Given the description of an element on the screen output the (x, y) to click on. 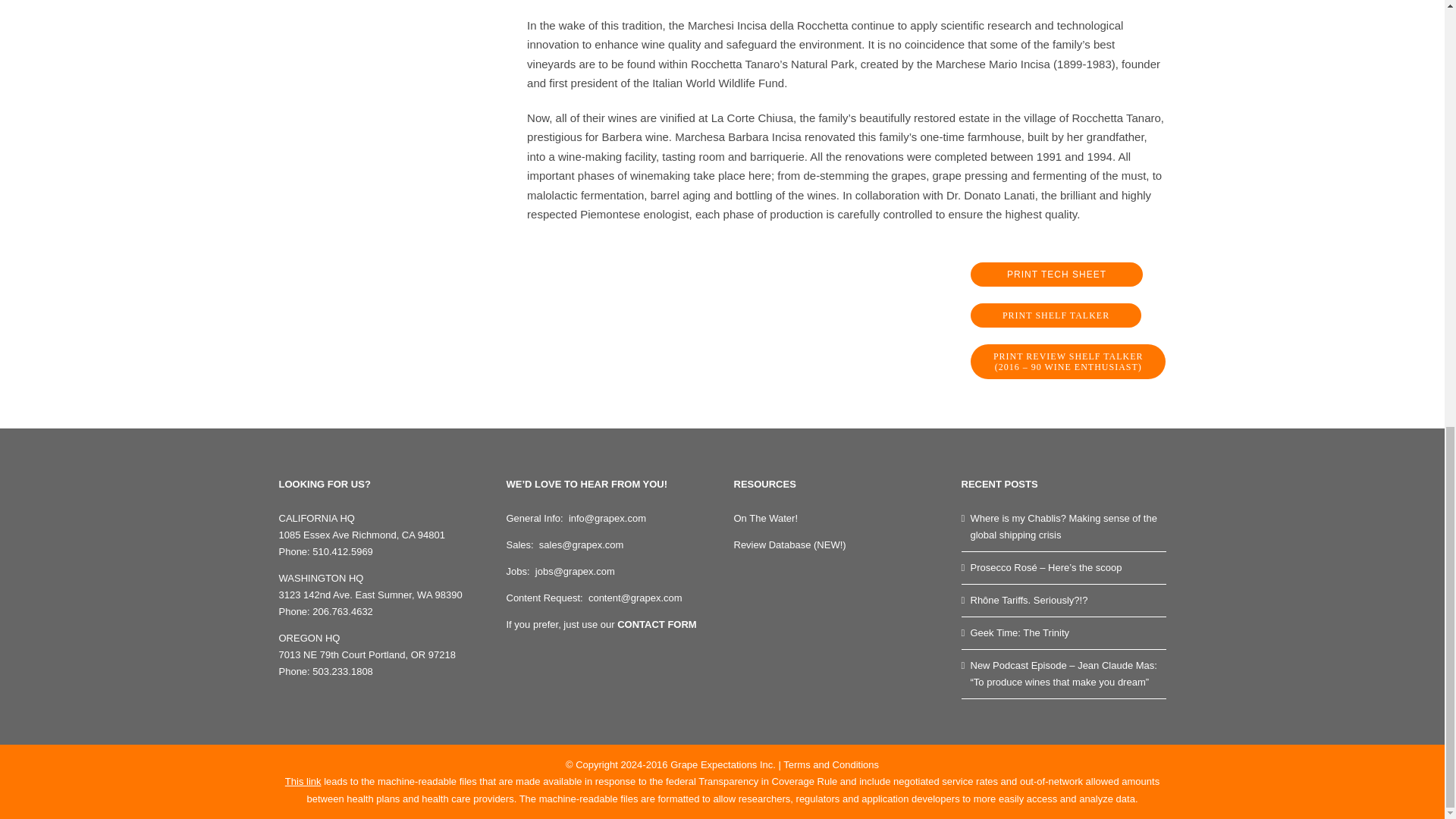
PRINT TECH SHEET (1056, 274)
PRINT SHELF TALKER (1056, 315)
CONTACT FORM (656, 624)
On The Water! (765, 518)
